Given the description of an element on the screen output the (x, y) to click on. 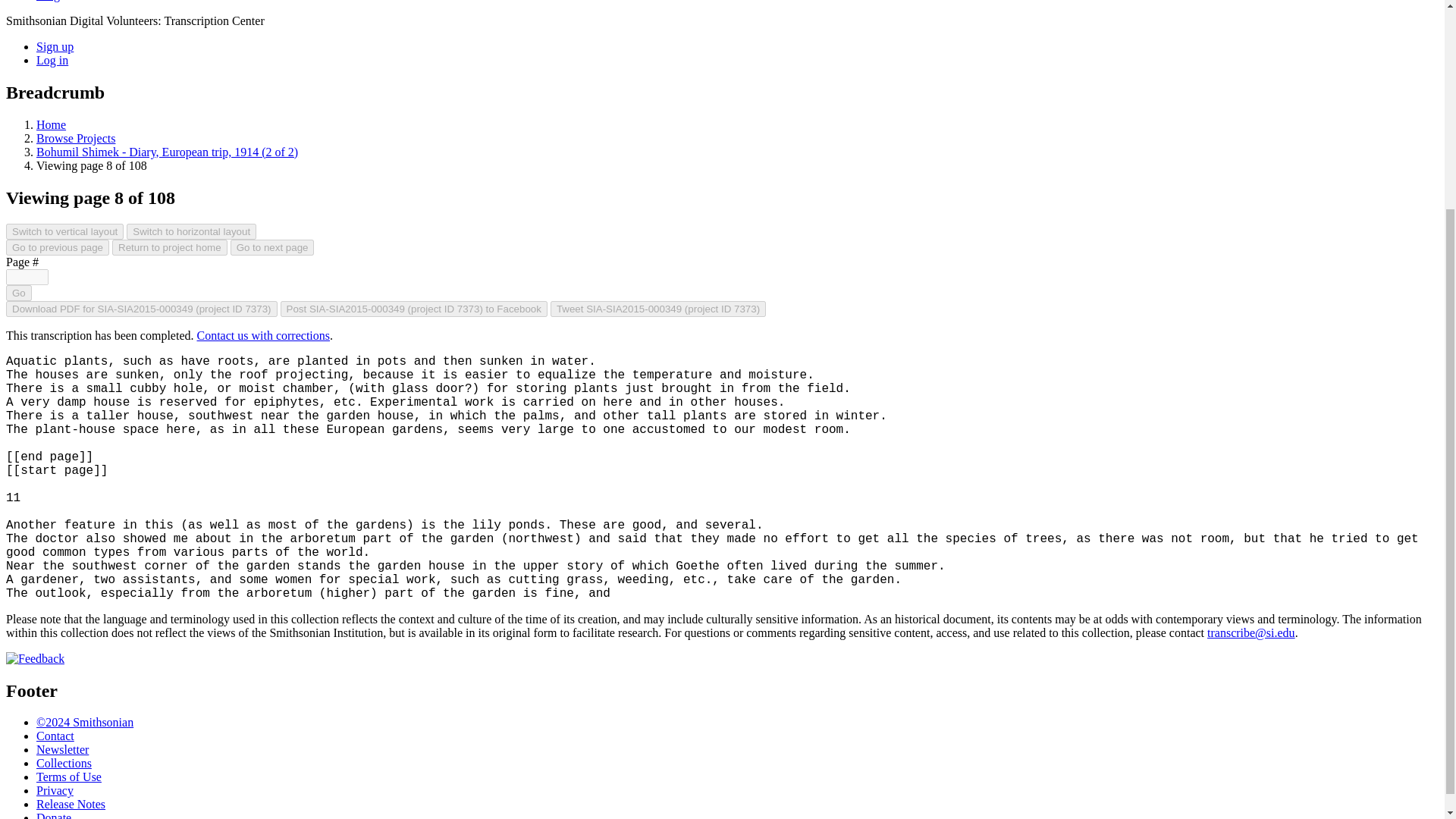
Go to next page (272, 247)
Contact us with corrections (263, 335)
Switch to vertical layout (64, 231)
Home (50, 124)
Go to previous page (57, 247)
Newsletter (62, 748)
Log in (52, 60)
Terms of Use (68, 776)
Sign up (55, 46)
Go (18, 293)
Blog (47, 0)
Collections (63, 762)
Browse Projects (75, 137)
Return to project home (169, 247)
Contact us with corrections (263, 335)
